Given the description of an element on the screen output the (x, y) to click on. 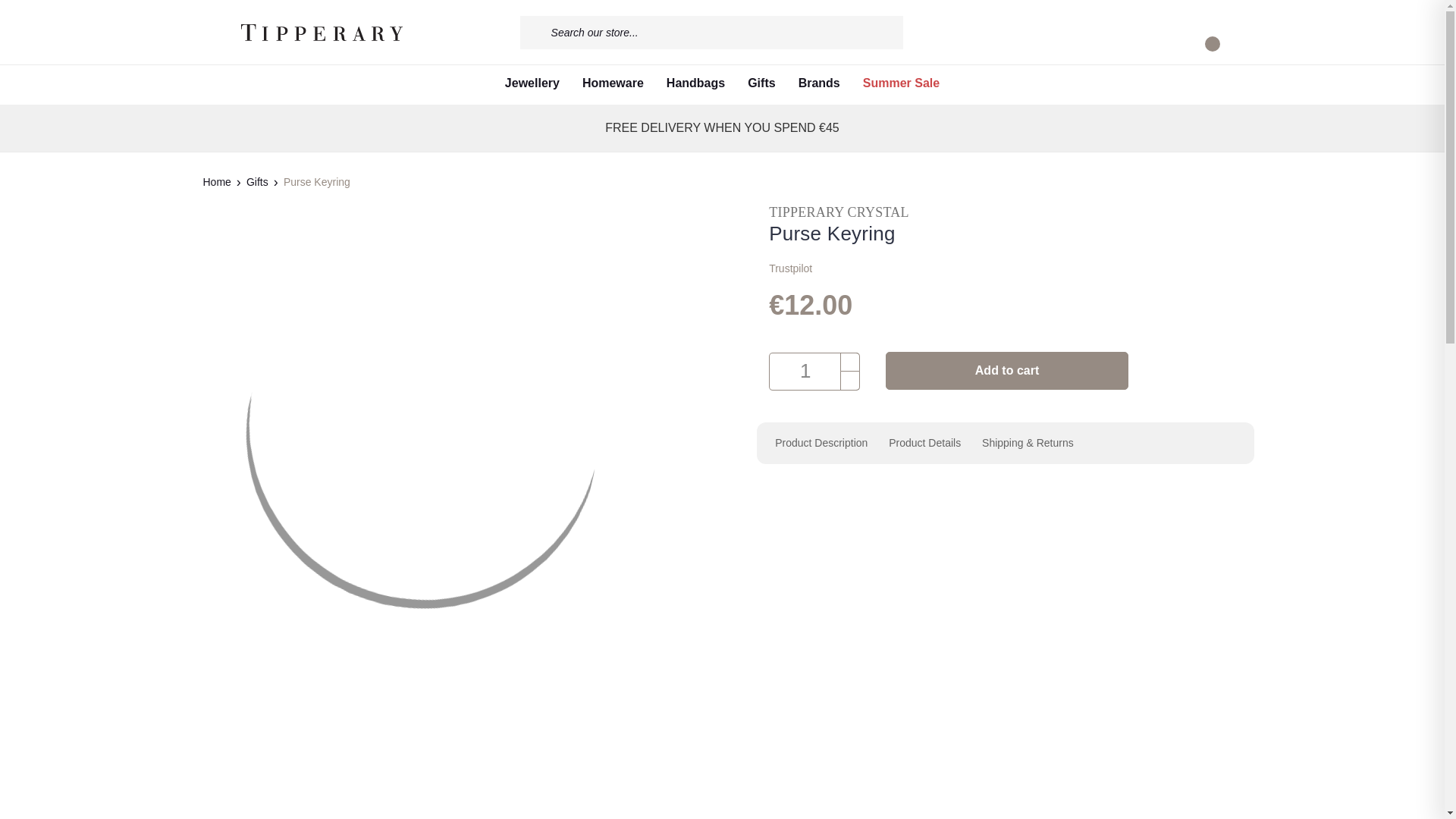
1 (814, 371)
Jewellery (532, 84)
USER (1137, 32)
Homeware (612, 84)
Search (534, 32)
